Given the description of an element on the screen output the (x, y) to click on. 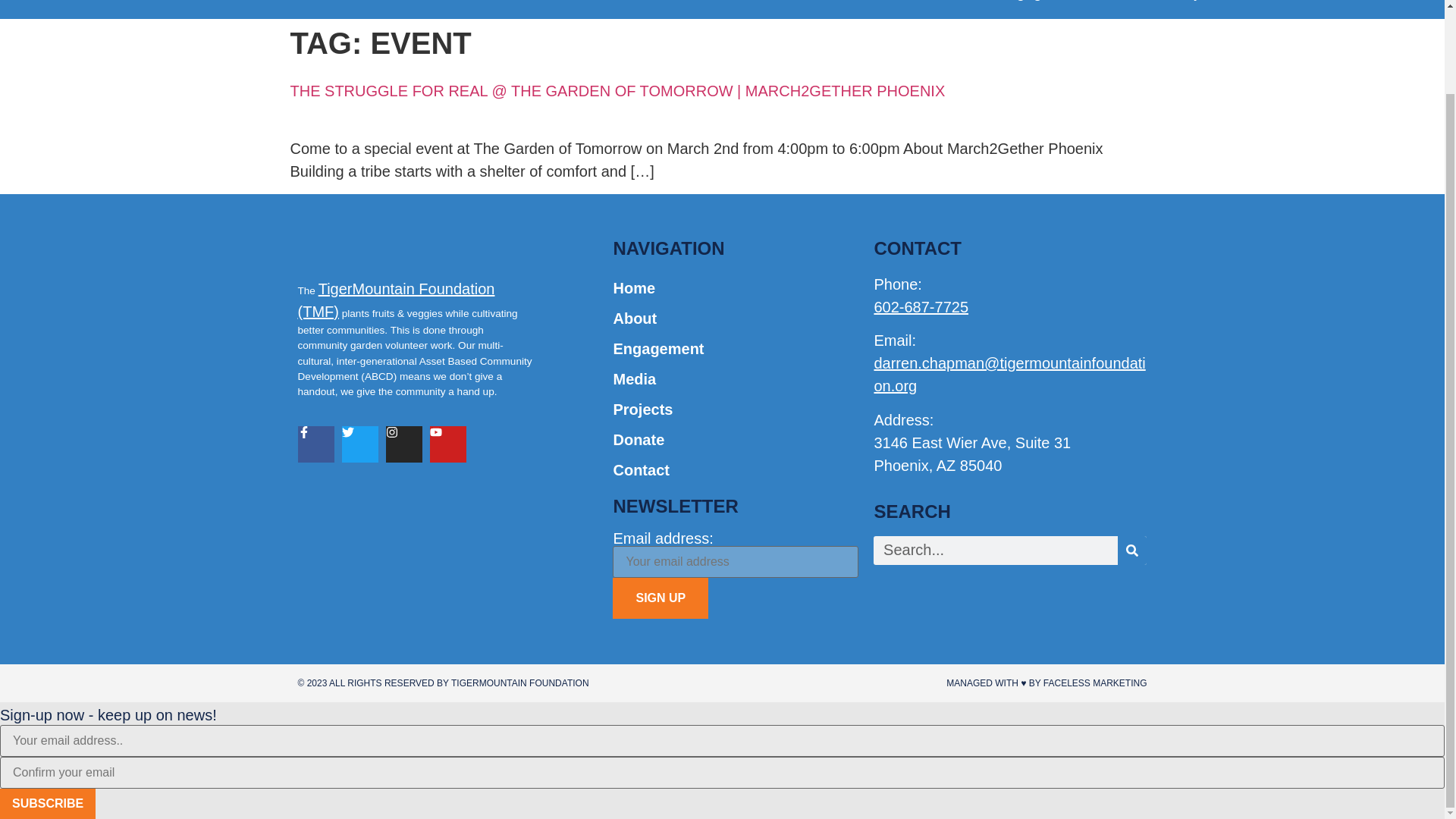
Engagement (1040, 7)
Sign up (659, 598)
About (955, 7)
Projects (1197, 7)
Contact (1346, 7)
Donate (1272, 7)
Home (892, 7)
Media (1127, 7)
